Given the description of an element on the screen output the (x, y) to click on. 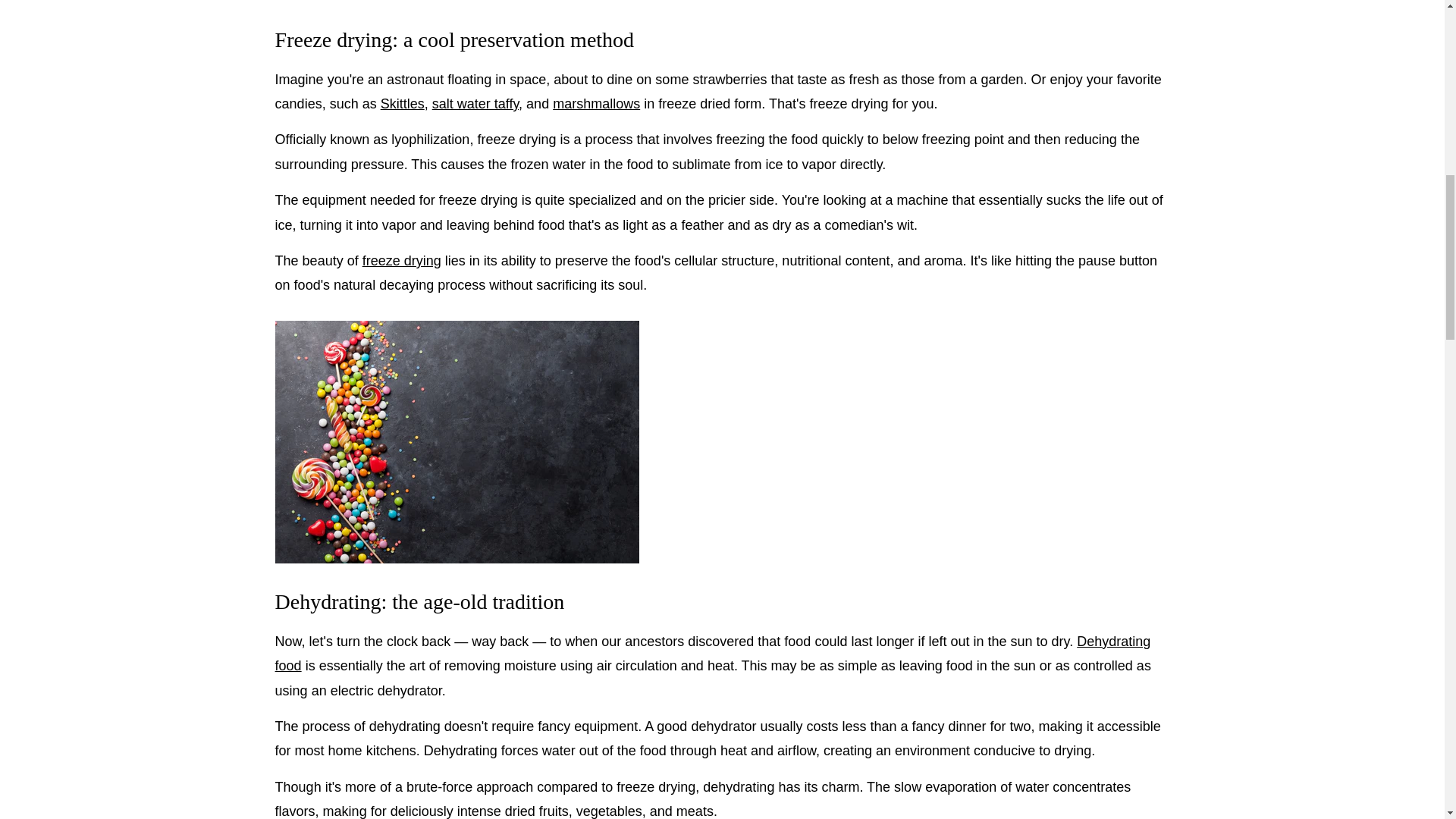
Skittles (402, 103)
salt water taffy (475, 103)
freeze drying (401, 260)
marshmallows (596, 103)
Dehydrating food (713, 653)
